Given the description of an element on the screen output the (x, y) to click on. 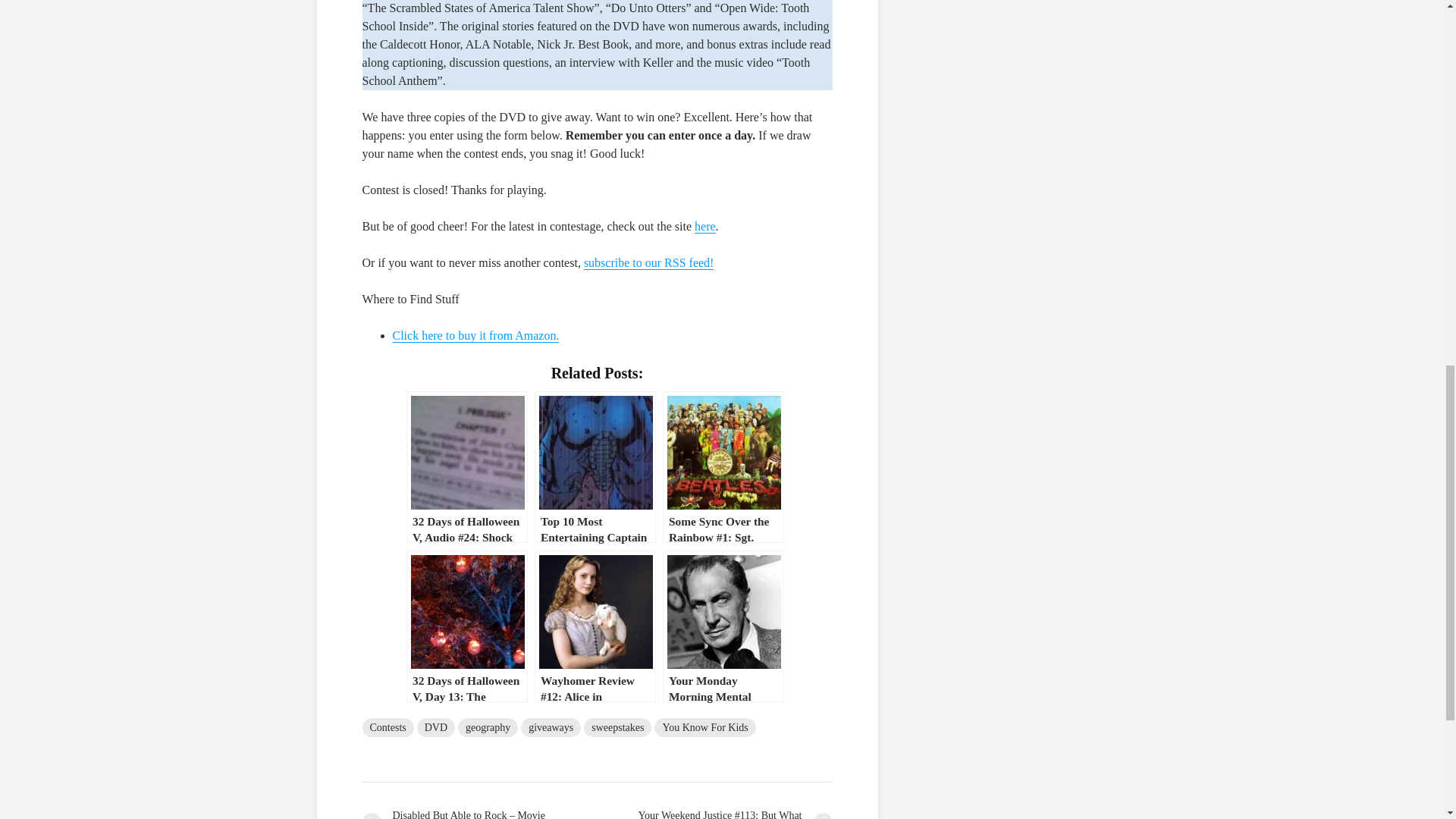
DVD (435, 727)
giveaways (550, 727)
sweepstakes (616, 727)
here (705, 226)
You Know For Kids (704, 727)
Contests (387, 727)
Click here to buy it from Amazon. (476, 336)
geography (488, 727)
subscribe to our RSS feed! (648, 263)
